Given the description of an element on the screen output the (x, y) to click on. 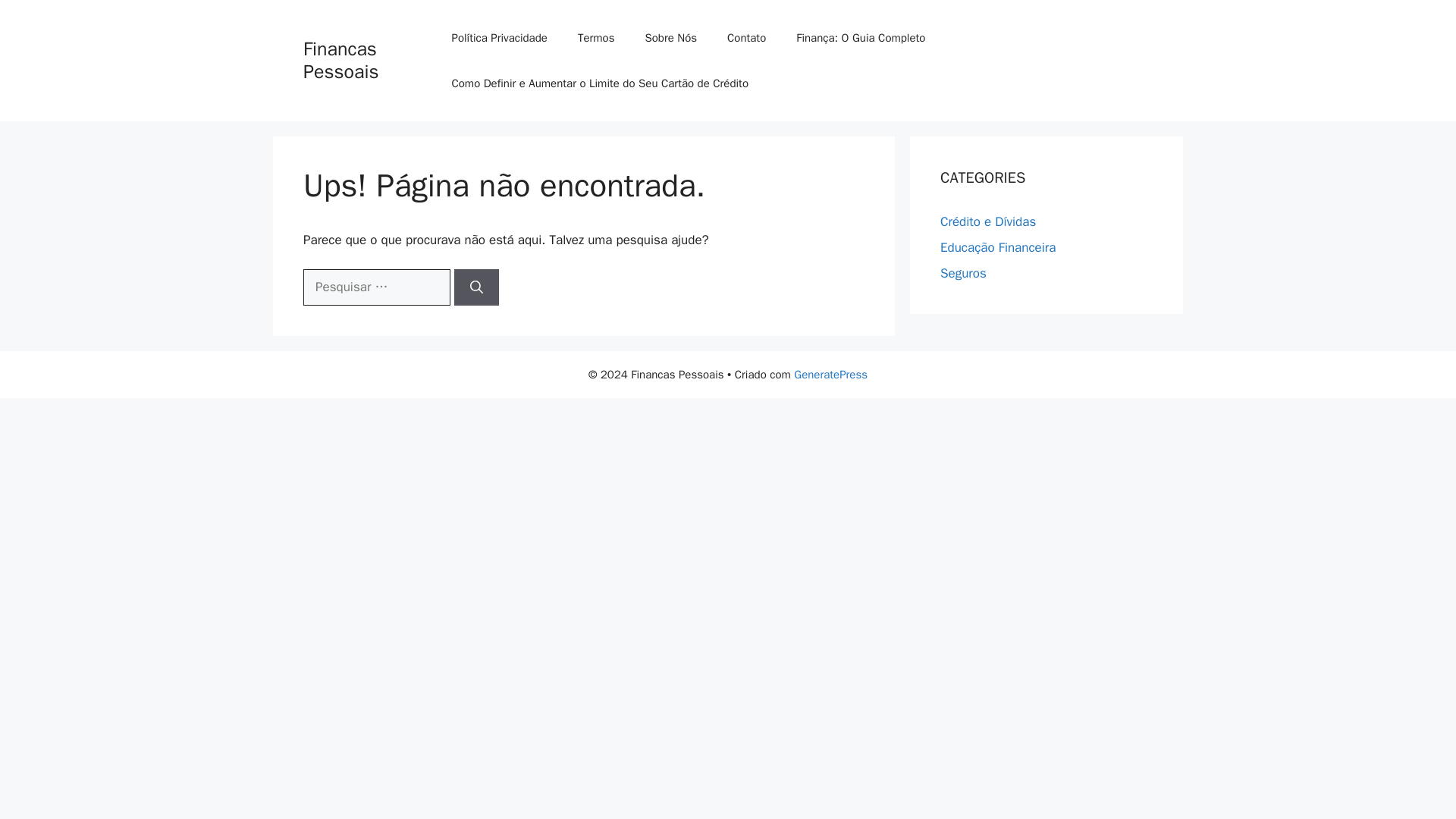
Seguros (963, 273)
Contato (745, 37)
GeneratePress (830, 374)
Pesquisar por: (375, 287)
Financas Pessoais (340, 59)
Termos (596, 37)
